Given the description of an element on the screen output the (x, y) to click on. 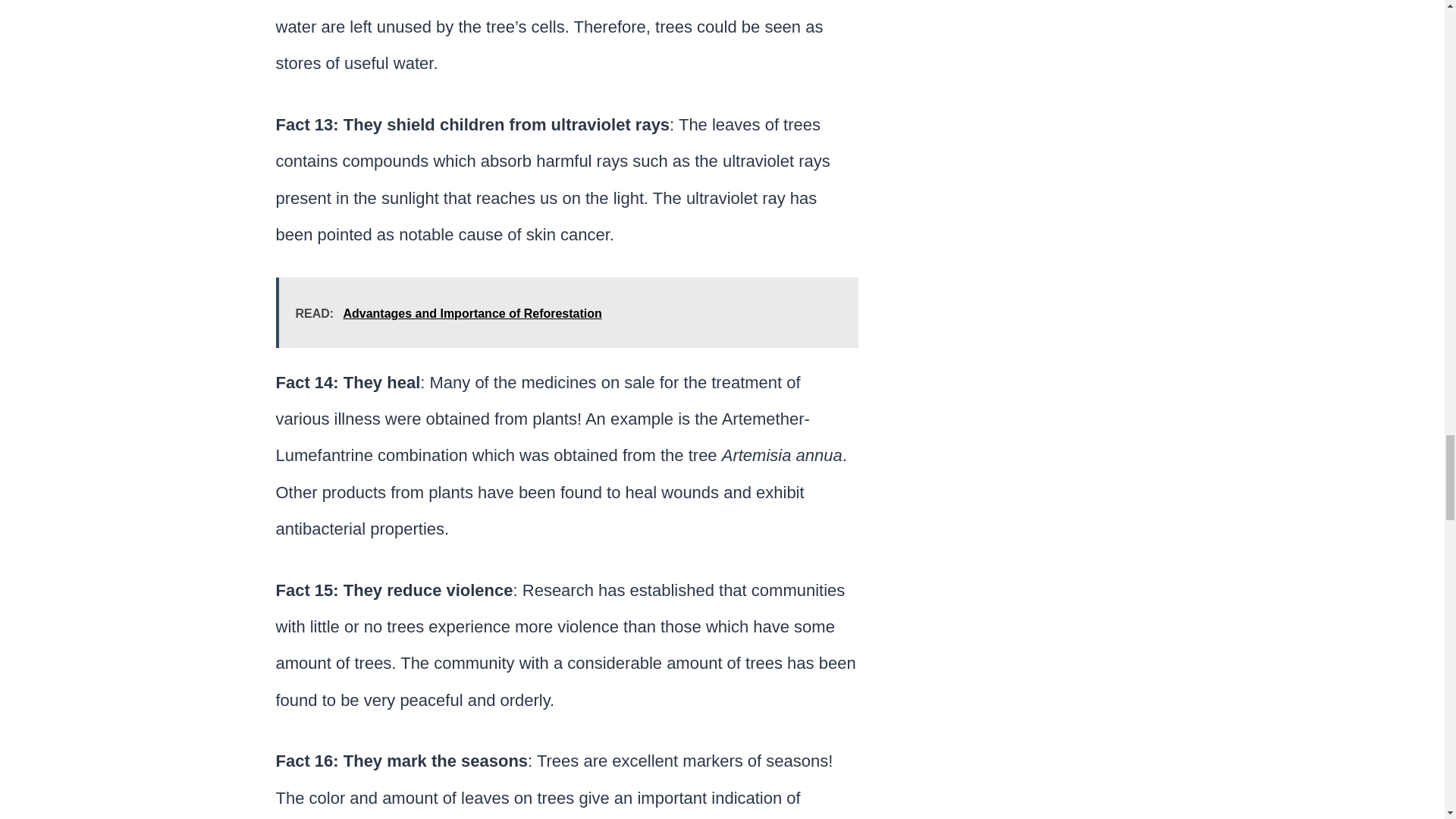
READ:  Advantages and Importance of Reforestation (567, 312)
